Given the description of an element on the screen output the (x, y) to click on. 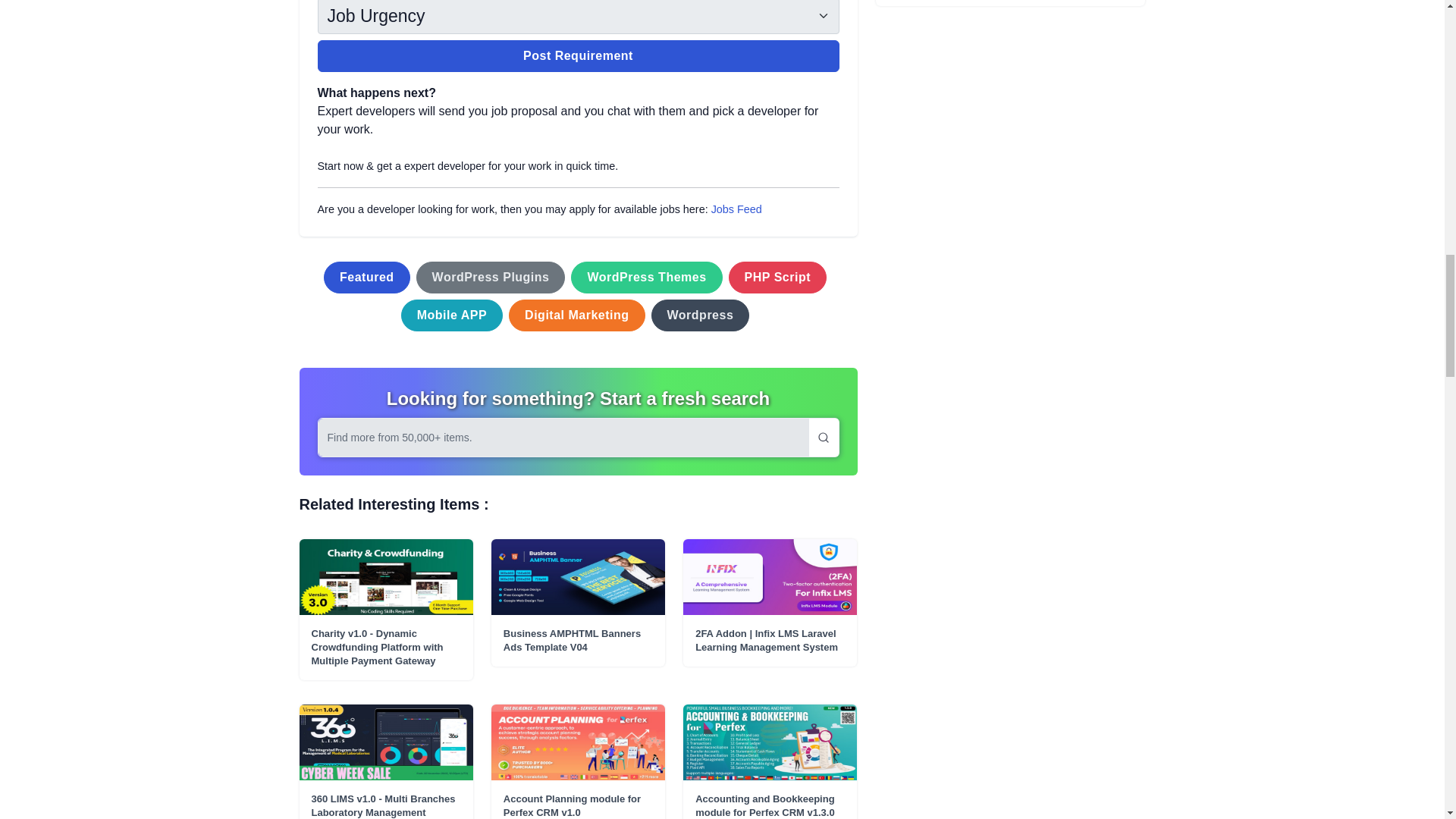
Jobs Feed (736, 209)
